Given the description of an element on the screen output the (x, y) to click on. 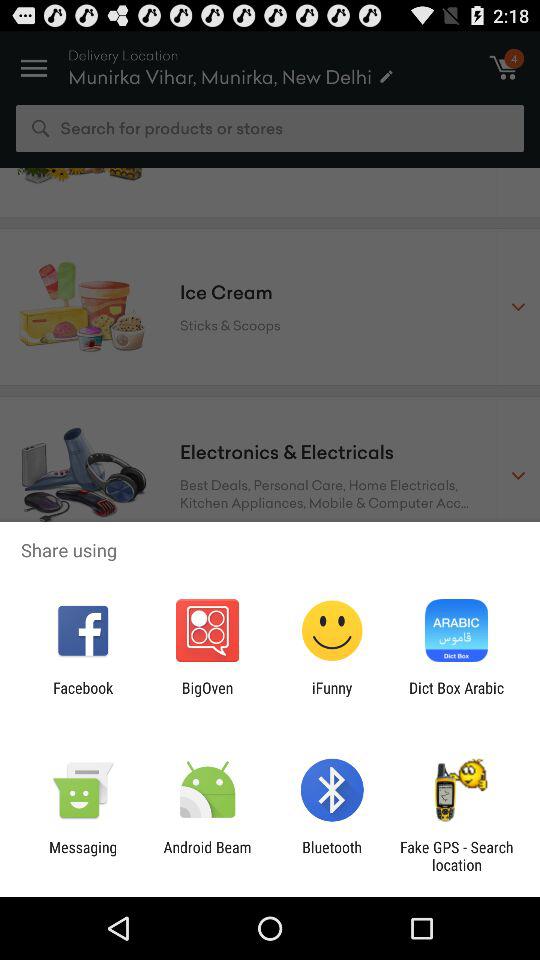
choose the item to the left of the bigoven item (83, 696)
